Given the description of an element on the screen output the (x, y) to click on. 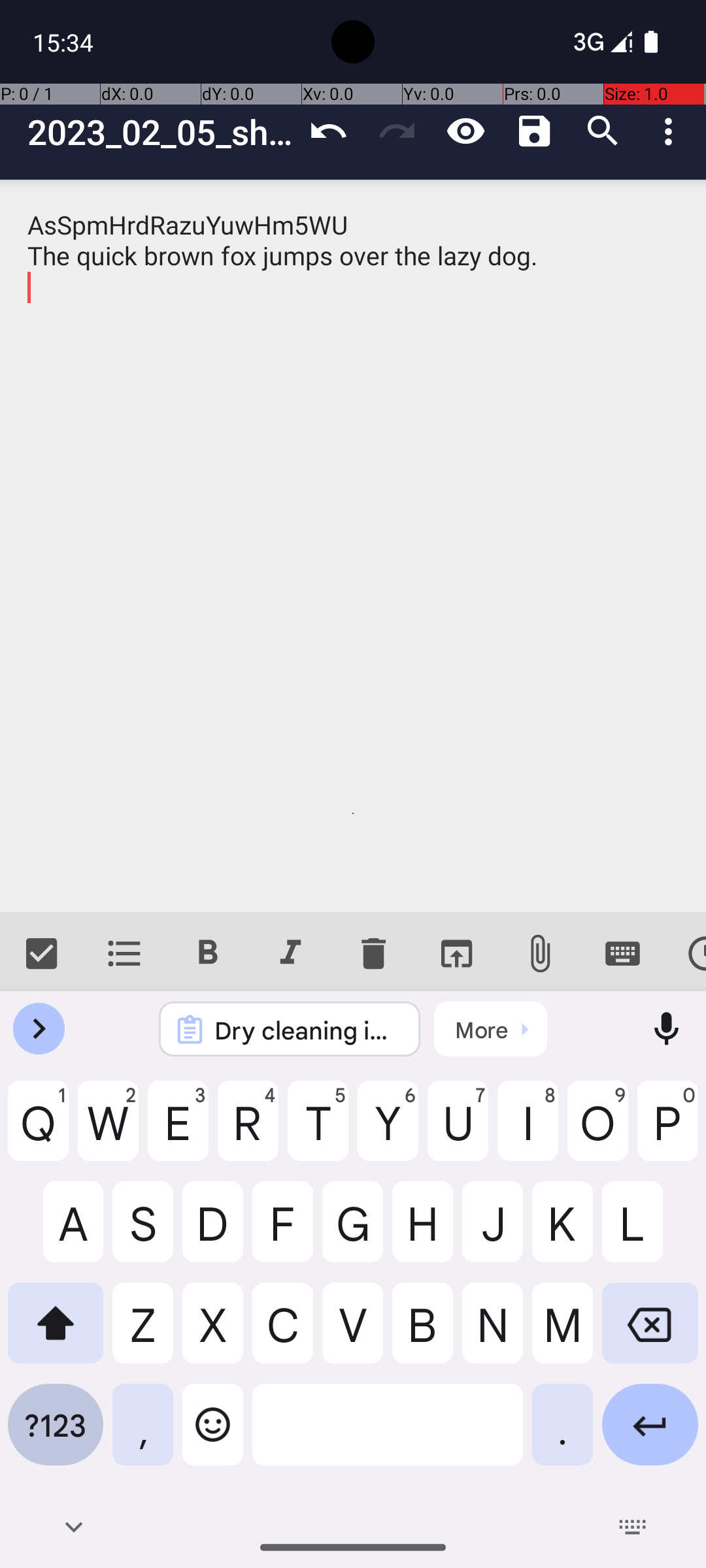
2023_02_05_shy_ocean_2023_02_21 Element type: android.widget.TextView (160, 131)
AsSpmHrdRazuYuwHm5WU
The quick brown fox jumps over the lazy dog.
 Element type: android.widget.EditText (353, 545)
Dry cleaning is ready for pick-up. Element type: android.widget.TextView (306, 1029)
